Given the description of an element on the screen output the (x, y) to click on. 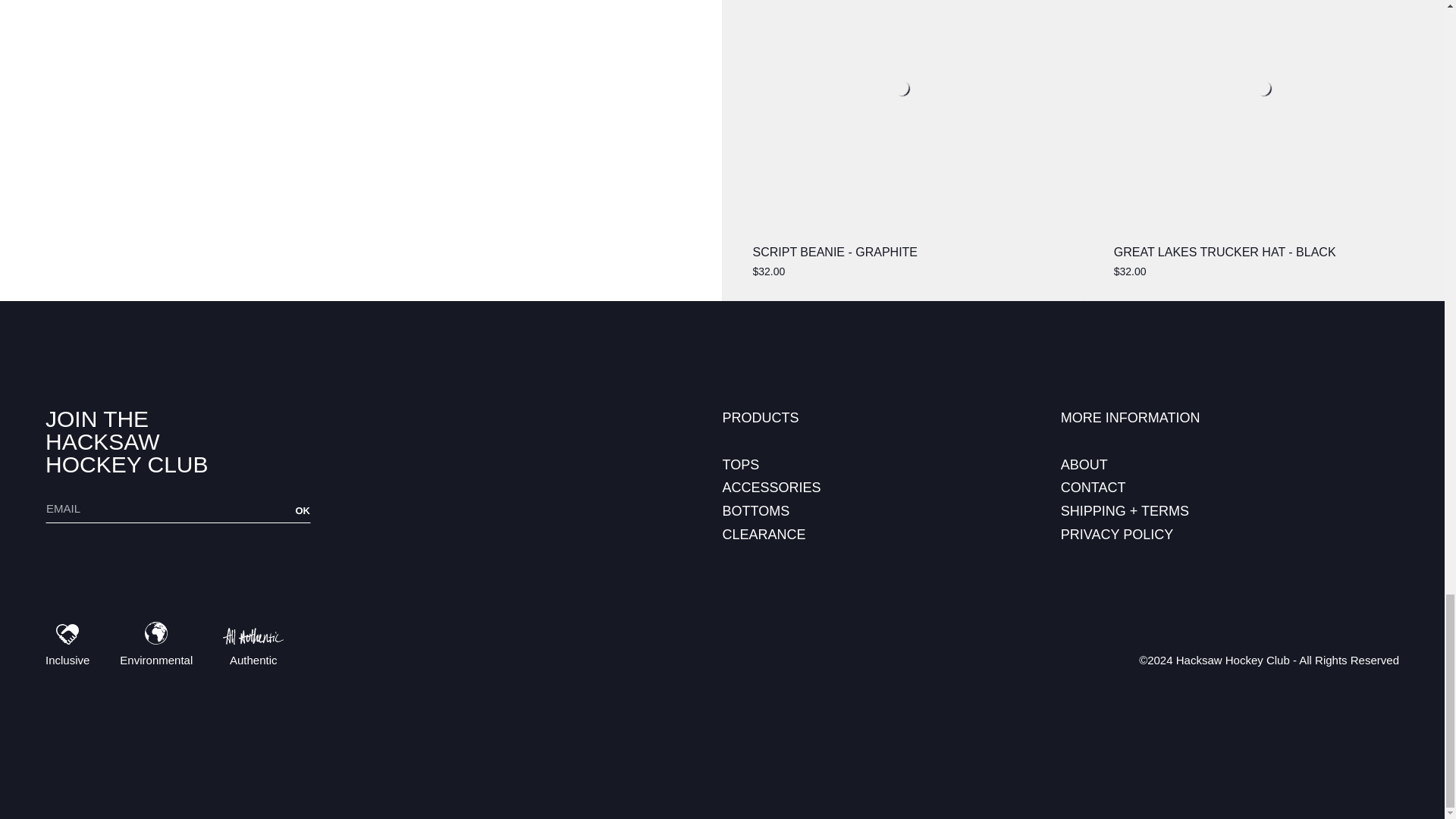
A link to About Hacksaw Hockey (1084, 464)
A link to Contact Hacksaw Hockey (1093, 487)
OK (302, 510)
TOPS (741, 464)
A link to Hacksaw Hockey's Privacy Policy (1117, 534)
A link to Hacksaw Hockey Bottoms (756, 510)
A link to Hacksaw Hockey Tops (741, 464)
A link to Hacksaw Hockey Clearance Items (764, 534)
CONTACT (1093, 487)
CLEARANCE (764, 534)
